Given the description of an element on the screen output the (x, y) to click on. 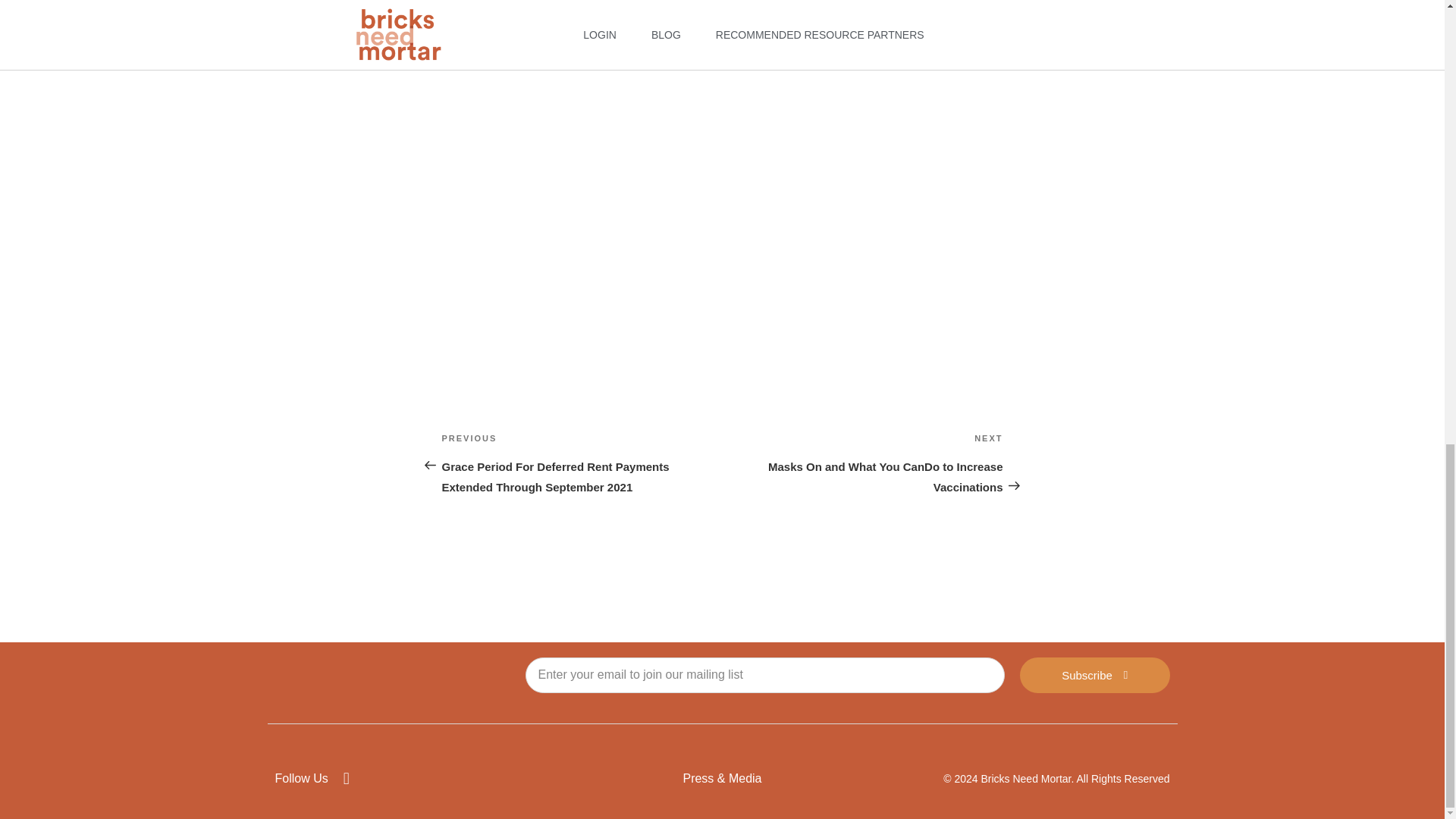
Subscribe (1095, 674)
